Given the description of an element on the screen output the (x, y) to click on. 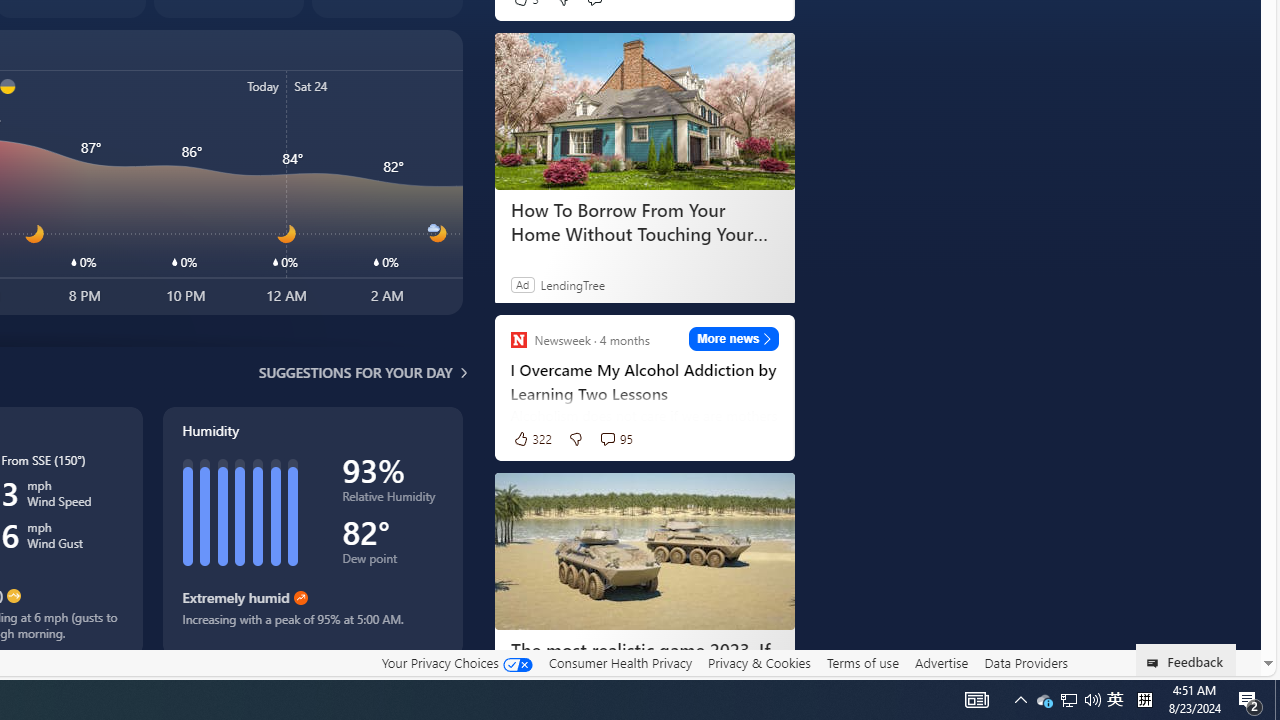
Humidity (312, 531)
Your Privacy Choices (456, 662)
Data Providers (1025, 663)
Consumer Health Privacy (619, 663)
Relative Humidity (391, 500)
Privacy & Cookies (759, 663)
How To Borrow From Your Home Without Touching Your Mortgage (644, 222)
More news (733, 338)
LendingTree (572, 284)
Terms of use (861, 663)
How To Borrow From Your Home Without Touching Your Mortgage (644, 111)
Increasing with a peak of 95% at 5:00 AM. (311, 626)
Terms of use (861, 662)
